Given the description of an element on the screen output the (x, y) to click on. 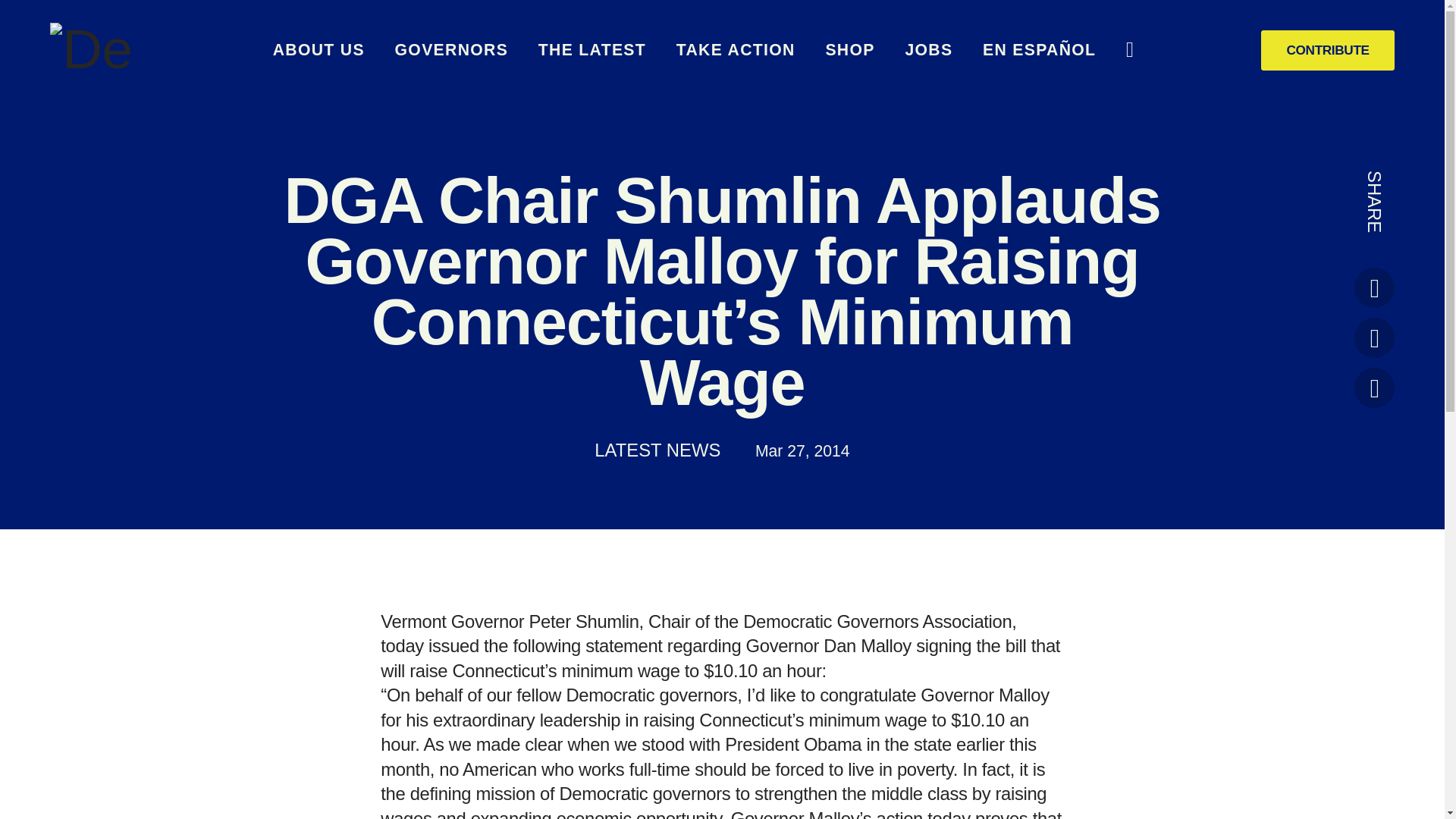
JOBS (928, 49)
TAKE ACTION (735, 49)
GOVERNORS (451, 49)
ABOUT US (319, 49)
CONTRIBUTE (1326, 50)
LATEST NEWS (657, 449)
SHOP (850, 49)
THE LATEST (592, 49)
